Given the description of an element on the screen output the (x, y) to click on. 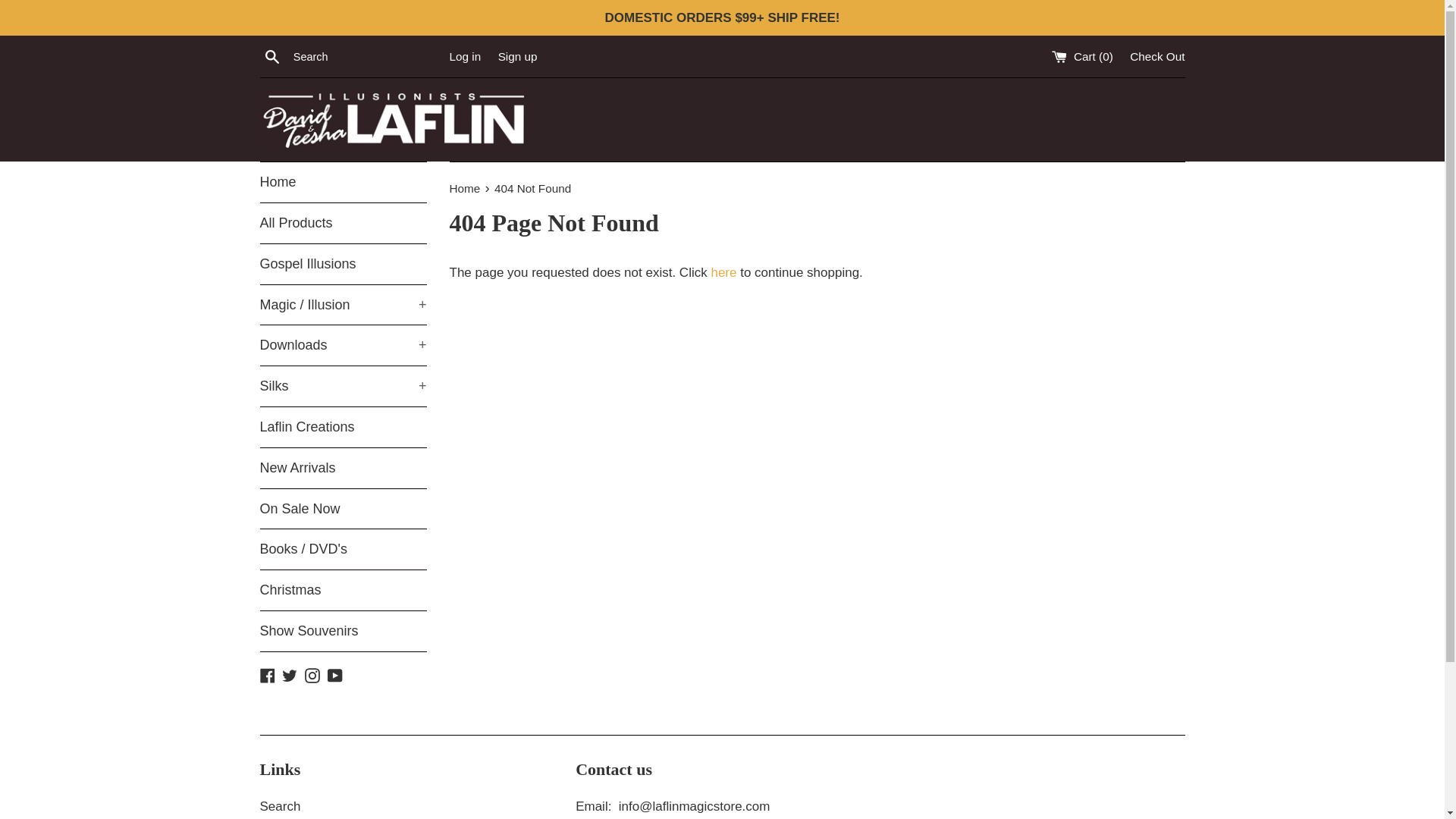
Home (342, 182)
LaflinMagicStore on Instagram (312, 675)
On Sale Now (342, 508)
Christmas (342, 590)
Gospel Illusions (342, 264)
LaflinMagicStore on Facebook (267, 675)
Search (271, 56)
All Products (342, 223)
Show Souvenirs (342, 630)
Laflin Creations (342, 427)
